Given the description of an element on the screen output the (x, y) to click on. 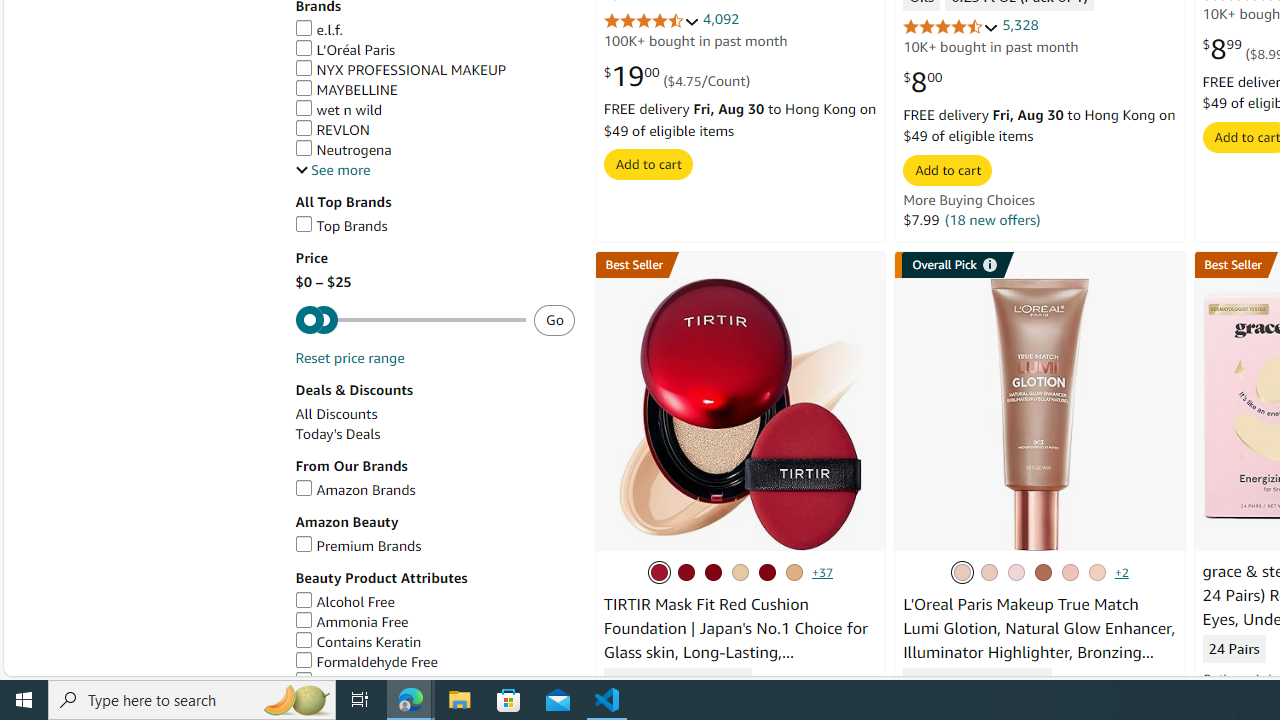
All Discounts (434, 414)
+37 (822, 571)
4.4 out of 5 stars (651, 20)
Contains Keratin (358, 642)
17C Porcelain (686, 572)
(18 new offers) (992, 219)
REVLON (434, 129)
5,328 (1020, 25)
21N Ivory (712, 572)
Reset price range (349, 358)
Hypoallergenic (434, 682)
Premium Brands (358, 545)
904 Deep (1043, 572)
Alcohol Free (344, 601)
Today's Deals (337, 434)
